Given the description of an element on the screen output the (x, y) to click on. 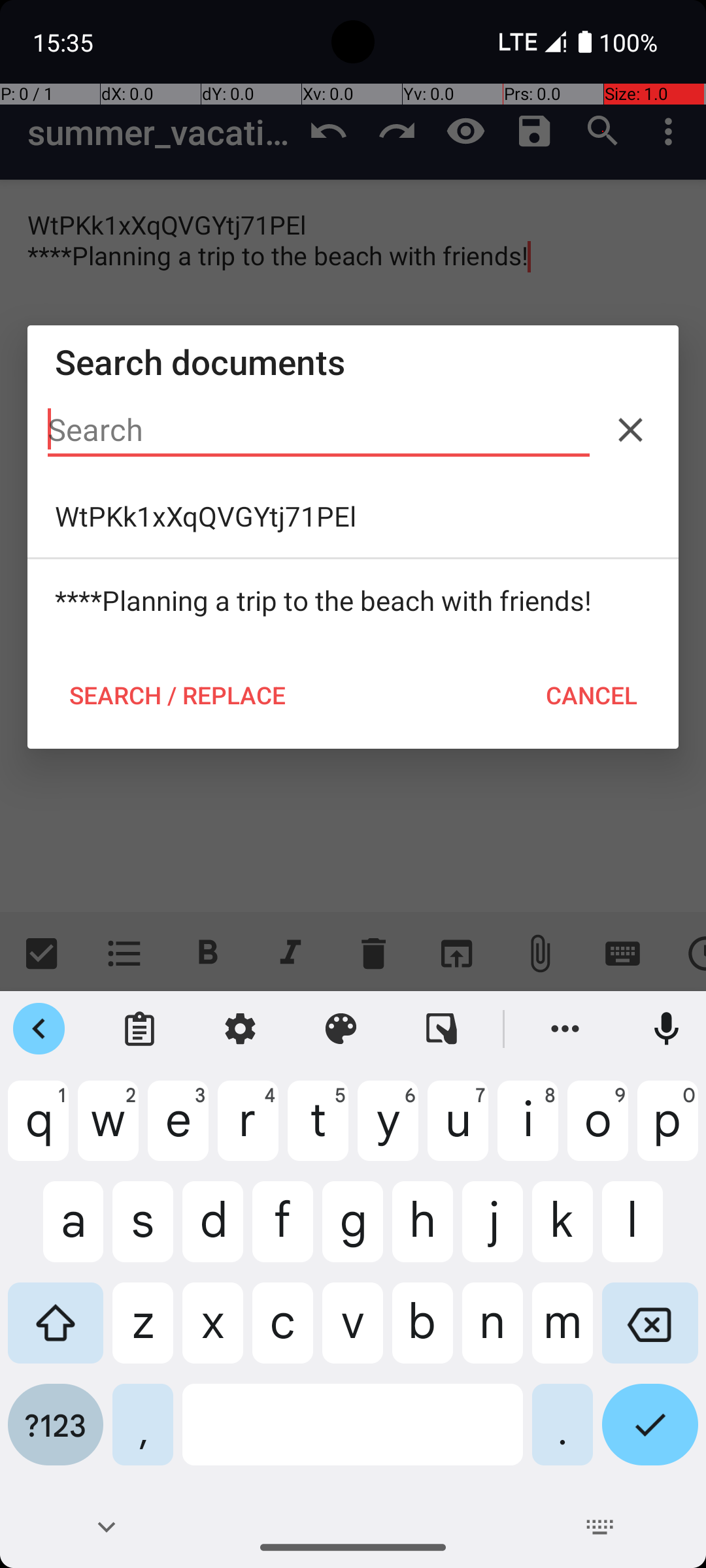
WtPKk1xXqQVGYtj71PEl Element type: android.widget.TextView (352, 515)
****Planning a trip to the beach with friends! Element type: android.widget.TextView (352, 600)
